Given the description of an element on the screen output the (x, y) to click on. 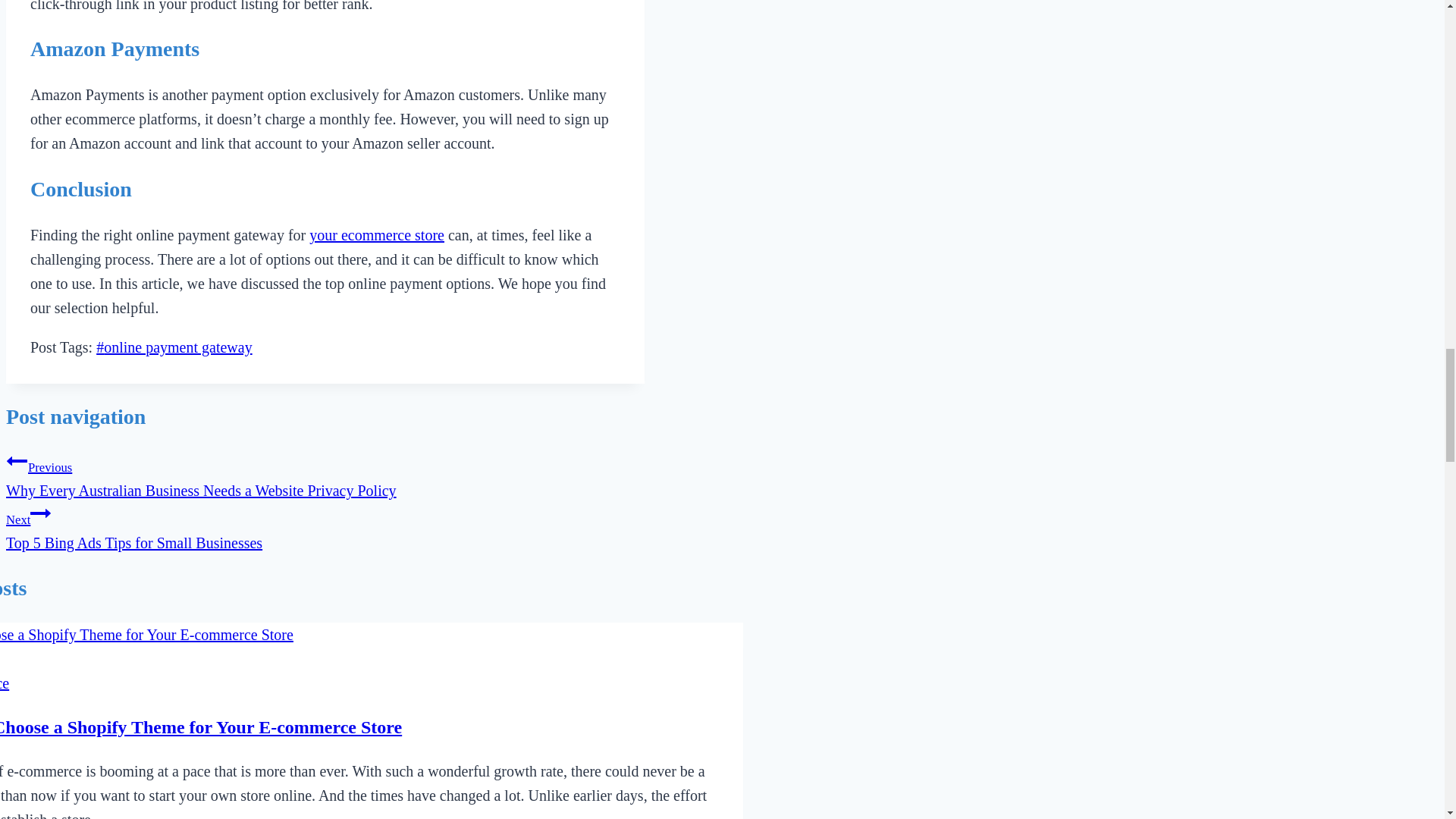
online payment gateway (173, 347)
Continue (40, 513)
Previous (325, 526)
your ecommerce store (16, 460)
How to Choose a Shopify Theme for Your E-commerce Store (376, 234)
